Given the description of an element on the screen output the (x, y) to click on. 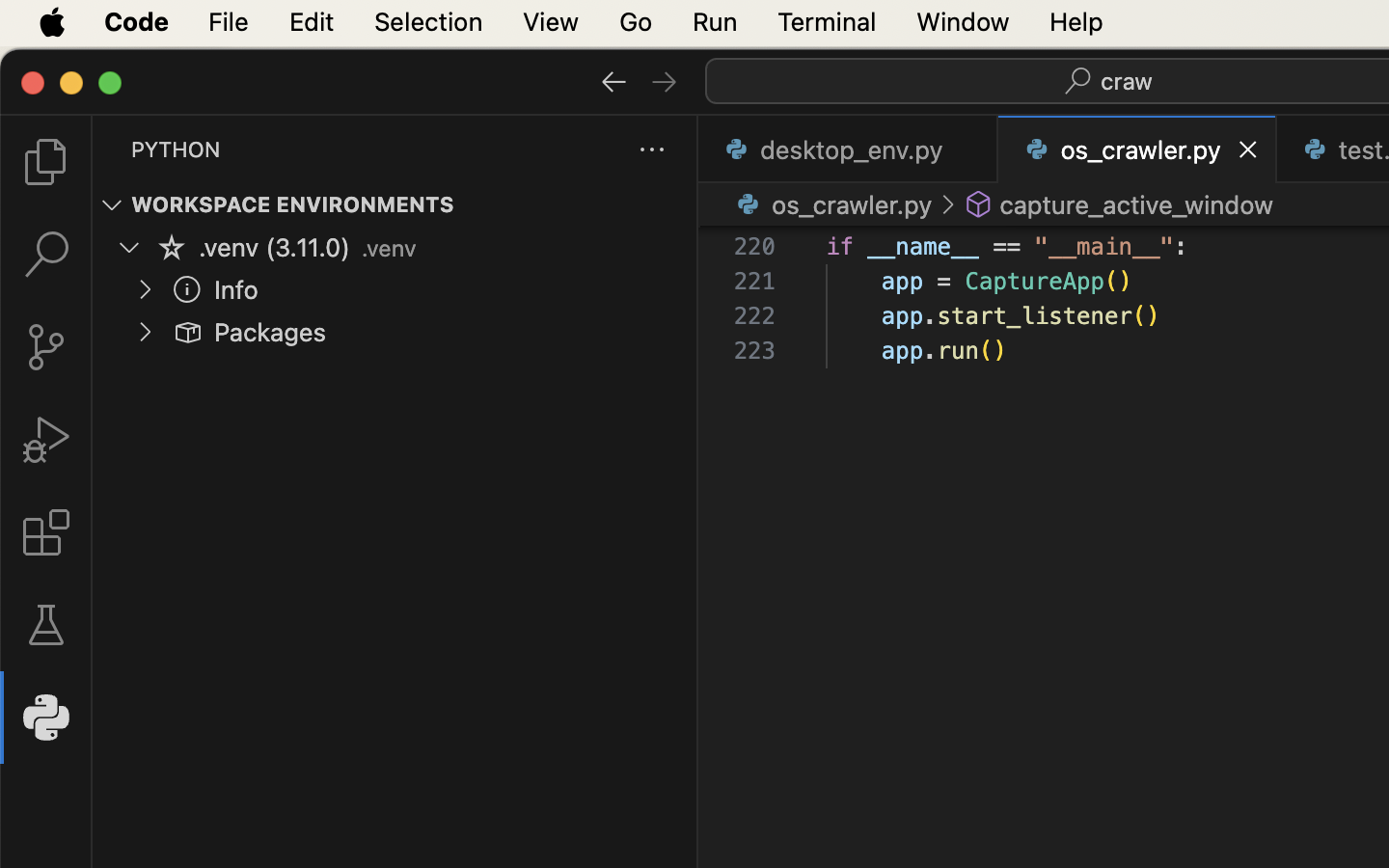
 Element type: AXStaticText (947, 204)
craw Element type: AXStaticText (1127, 80)
0  Element type: AXRadioButton (46, 346)
os_crawler.py  Element type: AXGroup (831, 204)
0 desktop_env.py   Element type: AXRadioButton (848, 149)
